Given the description of an element on the screen output the (x, y) to click on. 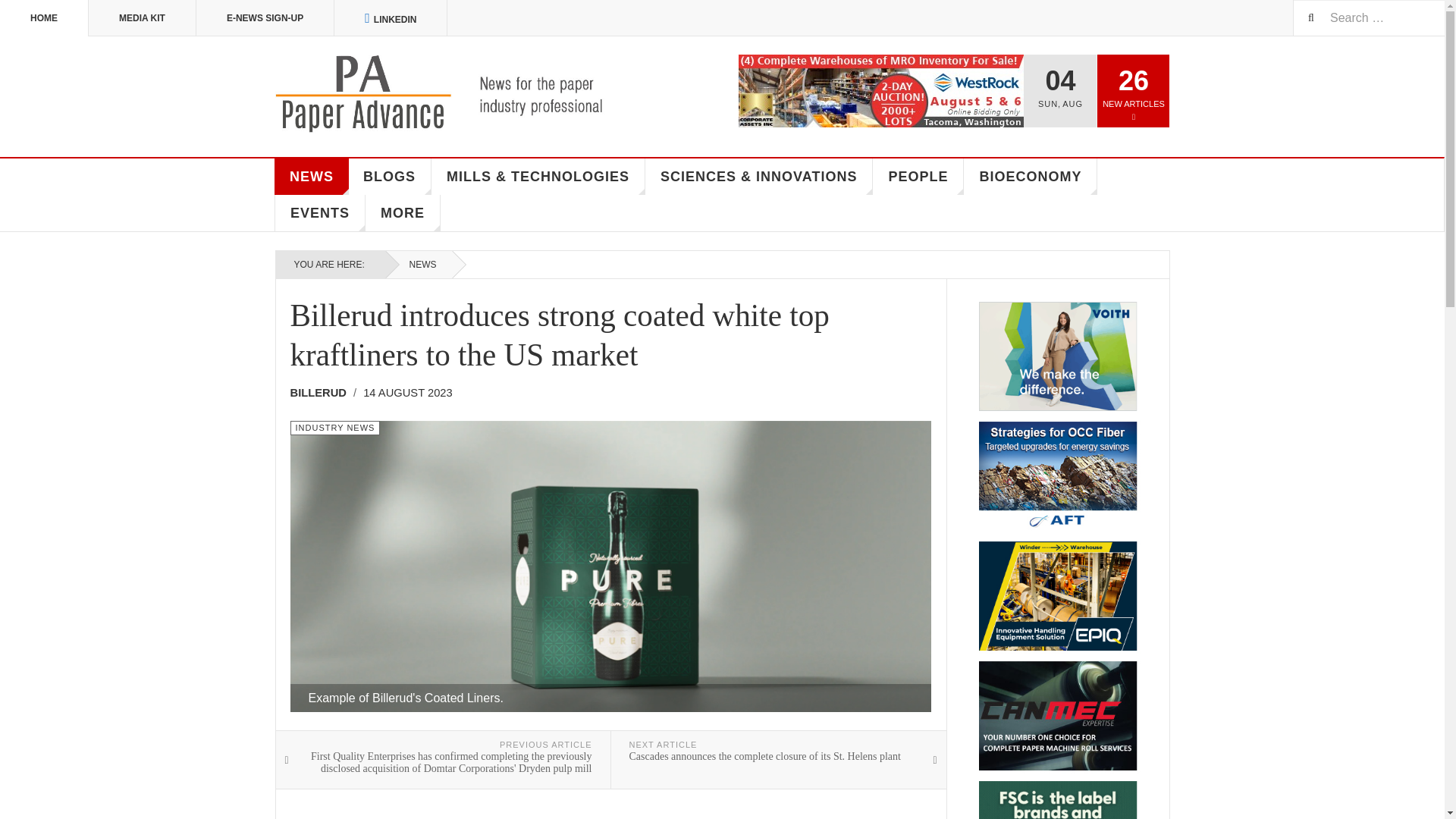
LINKEDIN (390, 18)
Paper Advance (461, 93)
MEDIA KIT (142, 18)
E-NEWS SIGN-UP (265, 18)
NEWS (312, 176)
HOME (44, 18)
